Given the description of an element on the screen output the (x, y) to click on. 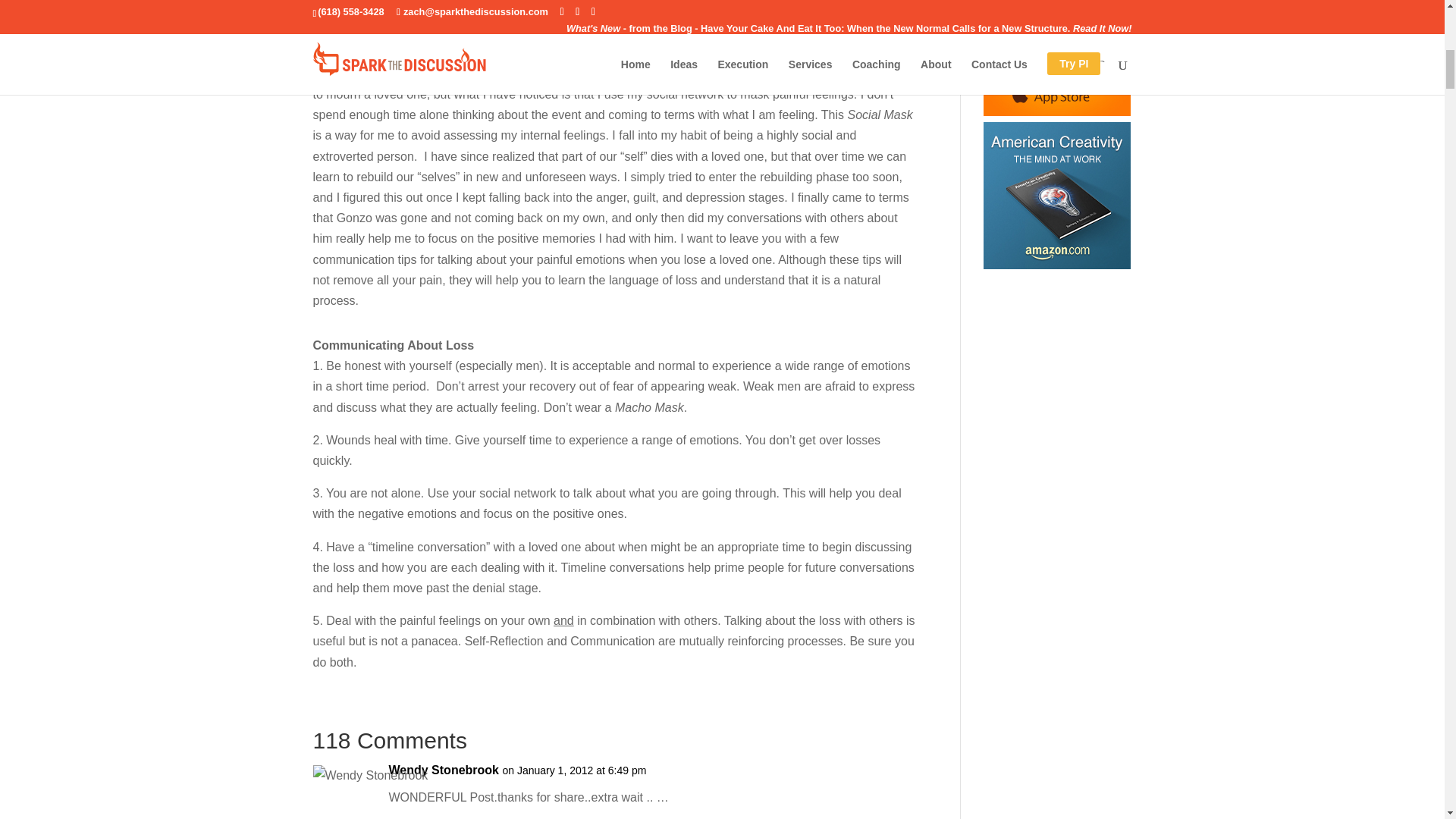
Clash Coach available on the Apple App Store (1057, 58)
Wendy Stonebrook (443, 770)
American Creativity available at Amazon.com (1057, 195)
